Given the description of an element on the screen output the (x, y) to click on. 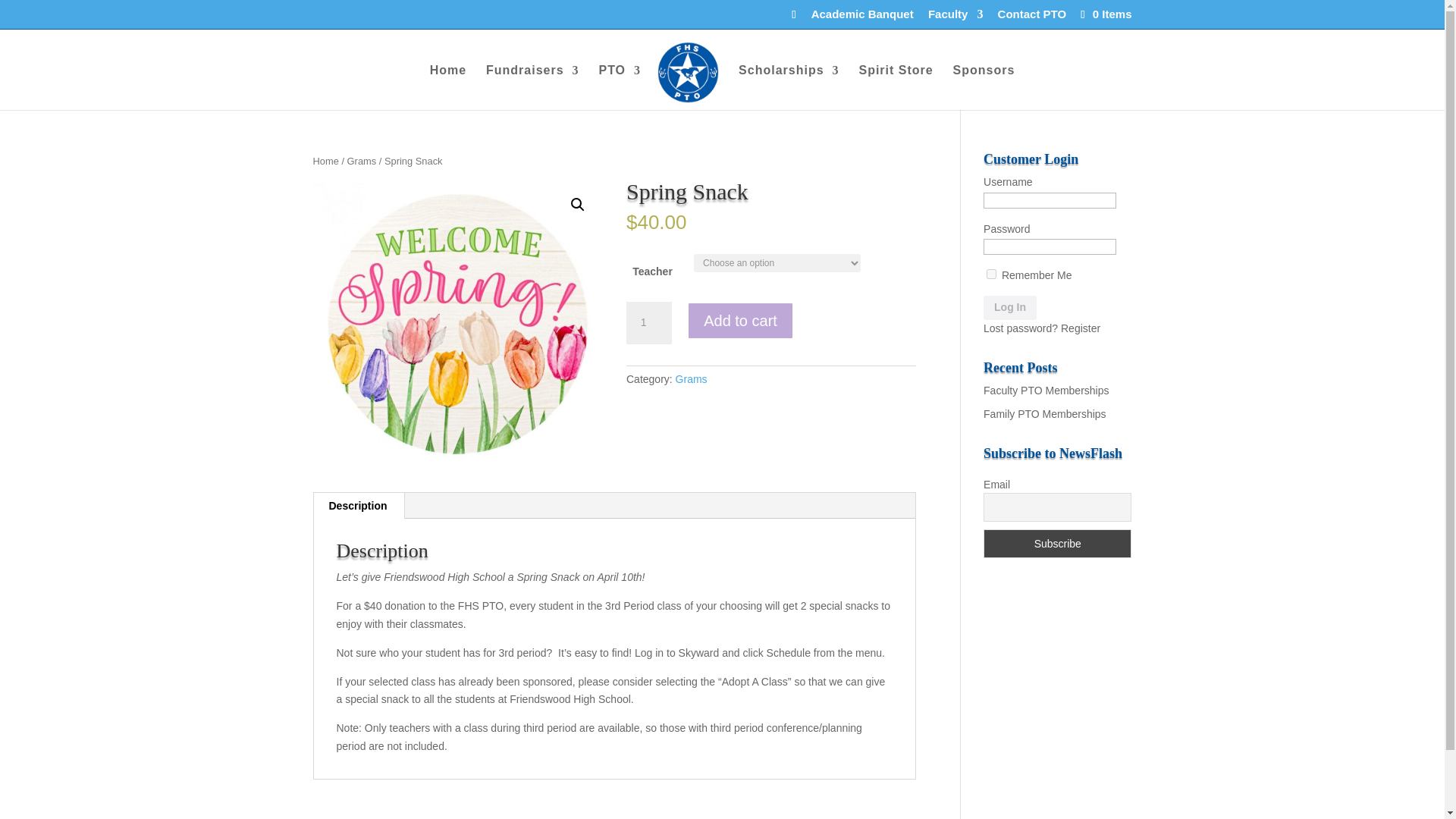
1 (648, 322)
forever (991, 274)
0 Items (1104, 13)
Log In (1010, 307)
spring (457, 325)
Contact PTO (1032, 17)
Register (1080, 328)
Faculty (956, 17)
Academic Banquet (862, 17)
Fundraisers (532, 87)
Spirit Store (896, 87)
Sponsors (983, 87)
PTO (619, 87)
Scholarships (788, 87)
Subscribe (1057, 543)
